Given the description of an element on the screen output the (x, y) to click on. 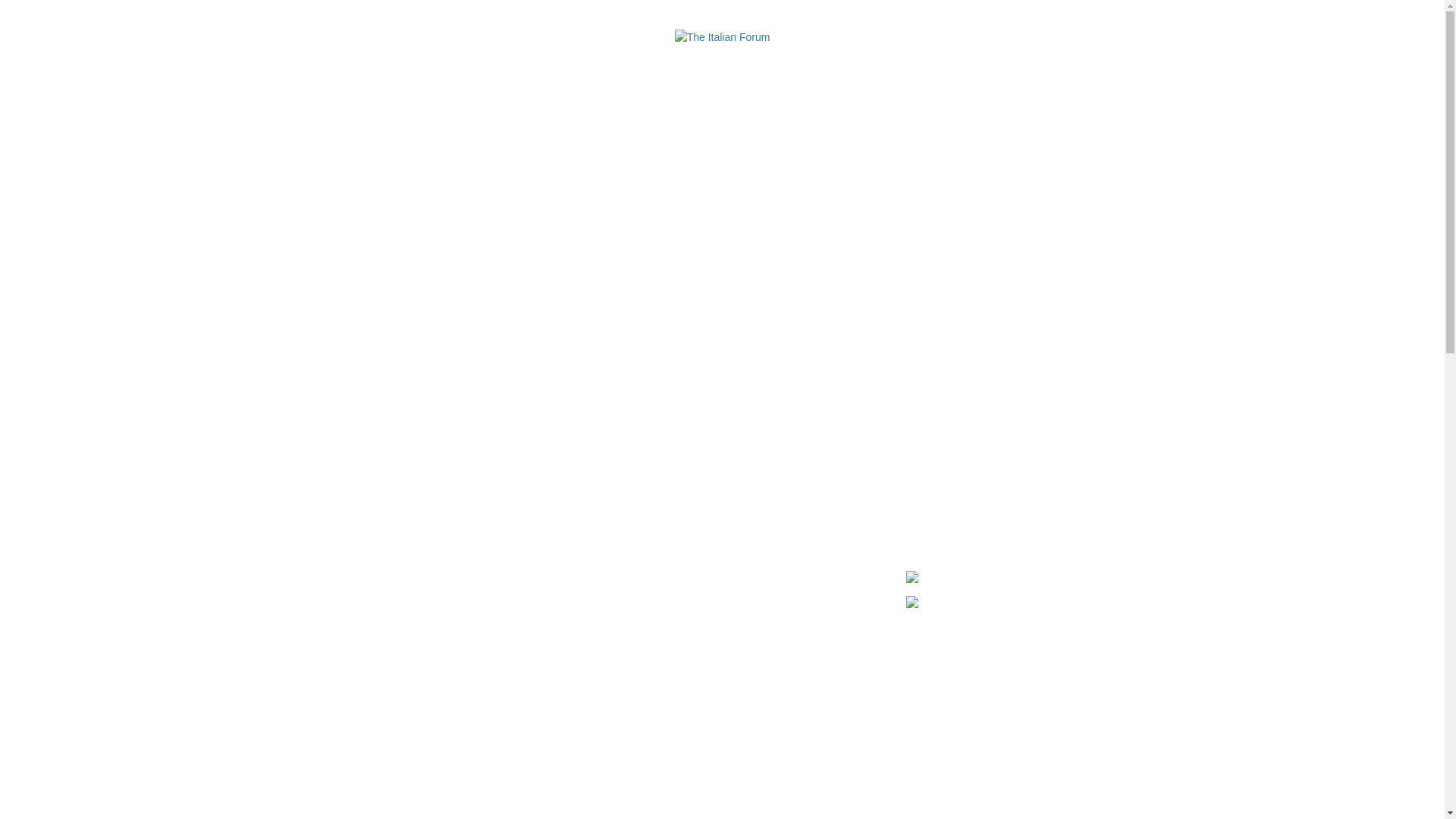
DINING Element type: text (434, 48)
DIRECTORY Element type: text (520, 48)
CONTACT Element type: text (1067, 48)
ABOUT Element type: text (371, 48)
PARKING Element type: text (992, 48)
